Given the description of an element on the screen output the (x, y) to click on. 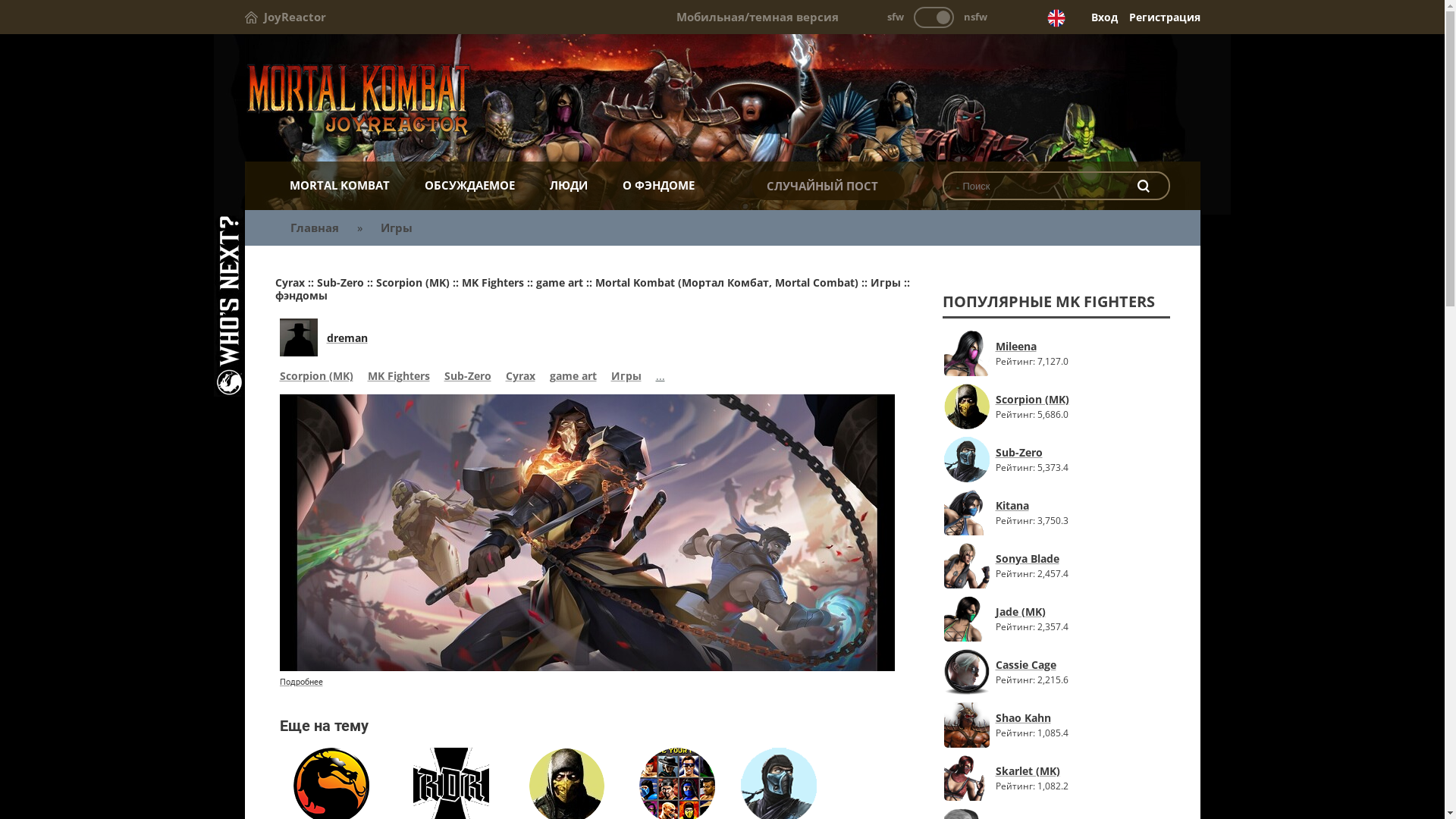
Scorpion (MK) Element type: text (1031, 399)
JoyReactor Element type: text (284, 17)
game art Element type: text (572, 377)
MORTAL KOMBAT Element type: text (338, 184)
Shao Kahn Element type: text (1031, 717)
Mortal Kombat Element type: text (721, 98)
Mileena Element type: text (1031, 345)
Sub-Zero Element type: text (1031, 452)
English version Element type: hover (1055, 18)
Cassie Cage Element type: text (1031, 664)
Sub-Zero Element type: text (467, 377)
Skarlet (MK) Element type: text (1031, 770)
dreman Element type: text (346, 337)
Sonya Blade Element type: text (1031, 558)
Kitana Element type: text (1031, 505)
Cyrax Element type: text (519, 377)
Scorpion (MK) Element type: text (315, 377)
MK Fighters Element type: text (398, 377)
Jade (MK) Element type: text (1031, 611)
